Given the description of an element on the screen output the (x, y) to click on. 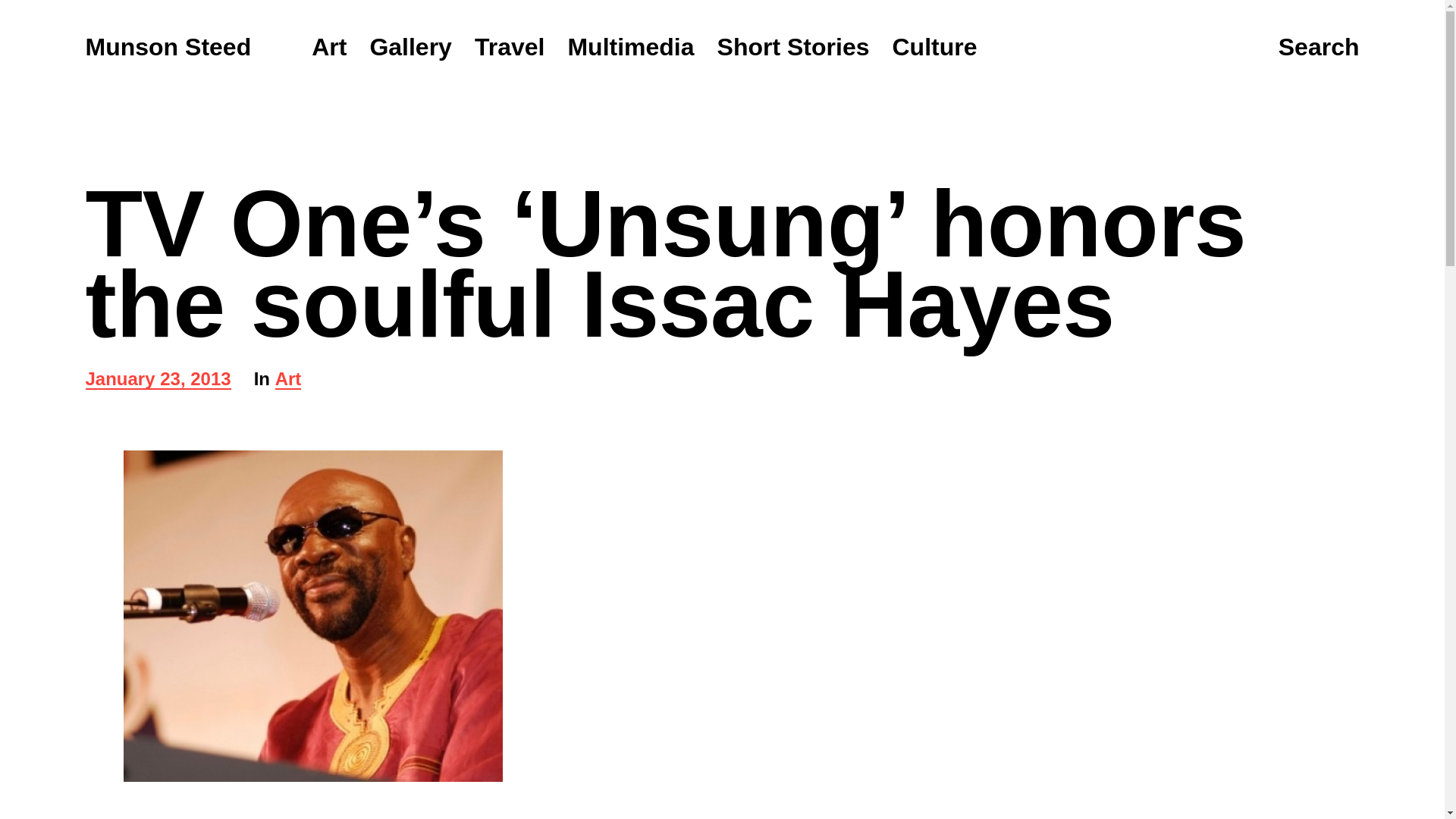
Art (328, 47)
Travel (509, 47)
Multimedia (157, 380)
Munson Steed (630, 47)
Short Stories (167, 47)
Art (793, 47)
Culture (288, 380)
isaachayes (933, 47)
Search (312, 616)
Gallery (1318, 47)
